Given the description of an element on the screen output the (x, y) to click on. 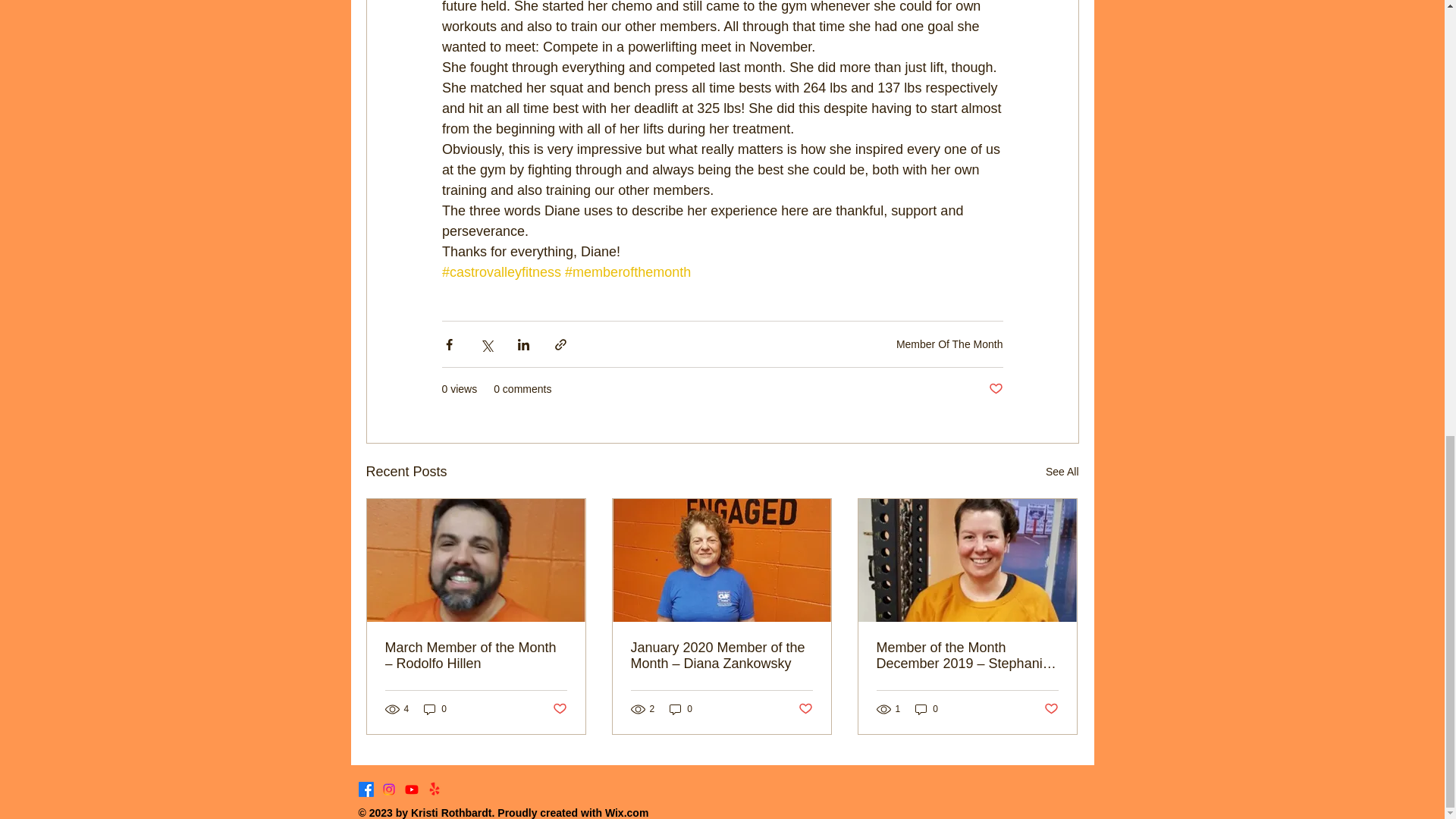
Post not marked as liked (558, 709)
Post not marked as liked (995, 389)
Post not marked as liked (804, 709)
0 (926, 708)
See All (1061, 472)
Post not marked as liked (1050, 709)
0 (681, 708)
Member Of The Month (949, 344)
0 (435, 708)
